Given the description of an element on the screen output the (x, y) to click on. 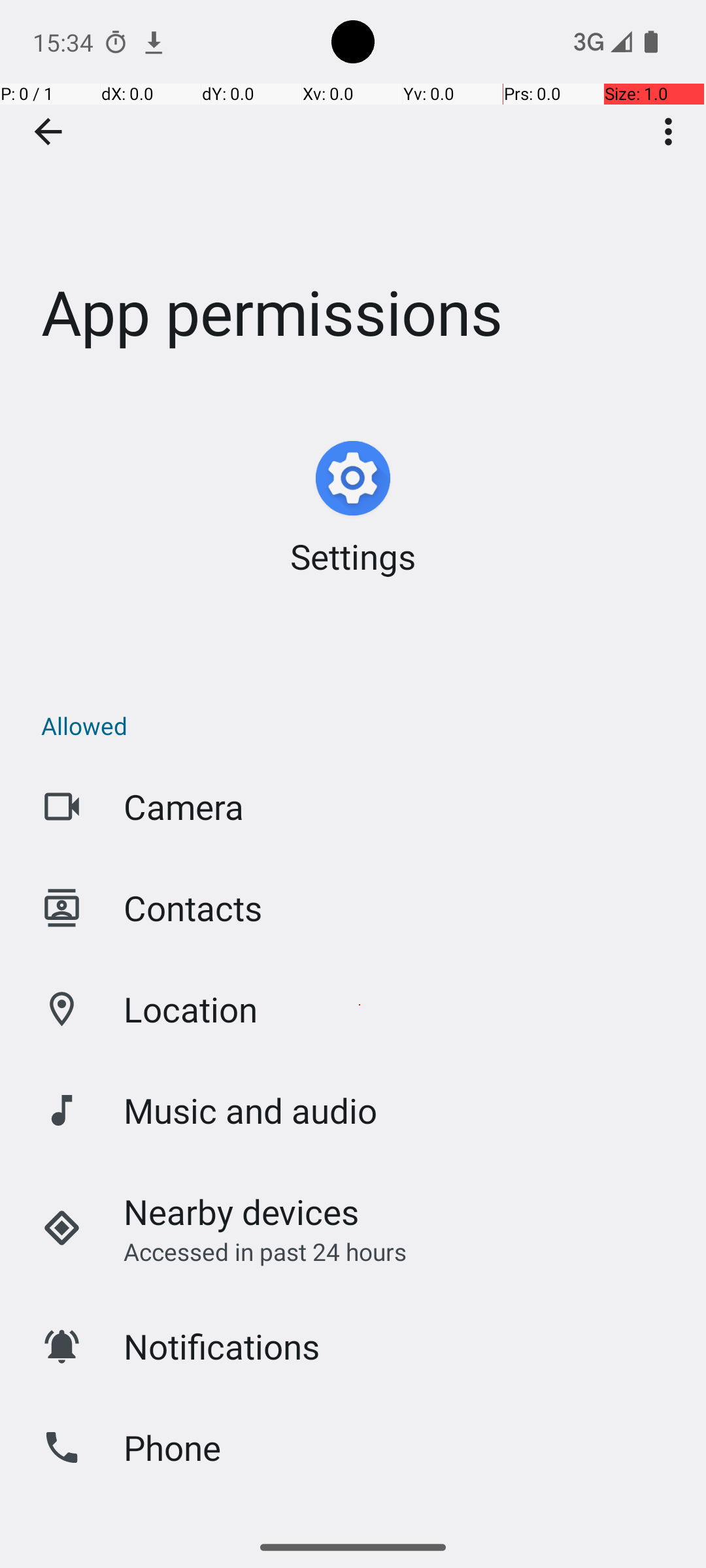
App permissions Element type: android.widget.FrameLayout (353, 195)
Music and audio Element type: android.widget.TextView (250, 1110)
Nearby devices Element type: android.widget.TextView (241, 1211)
Accessed in past 24 hours Element type: android.widget.TextView (264, 1251)
Photos and videos Element type: android.widget.TextView (265, 1525)
